Given the description of an element on the screen output the (x, y) to click on. 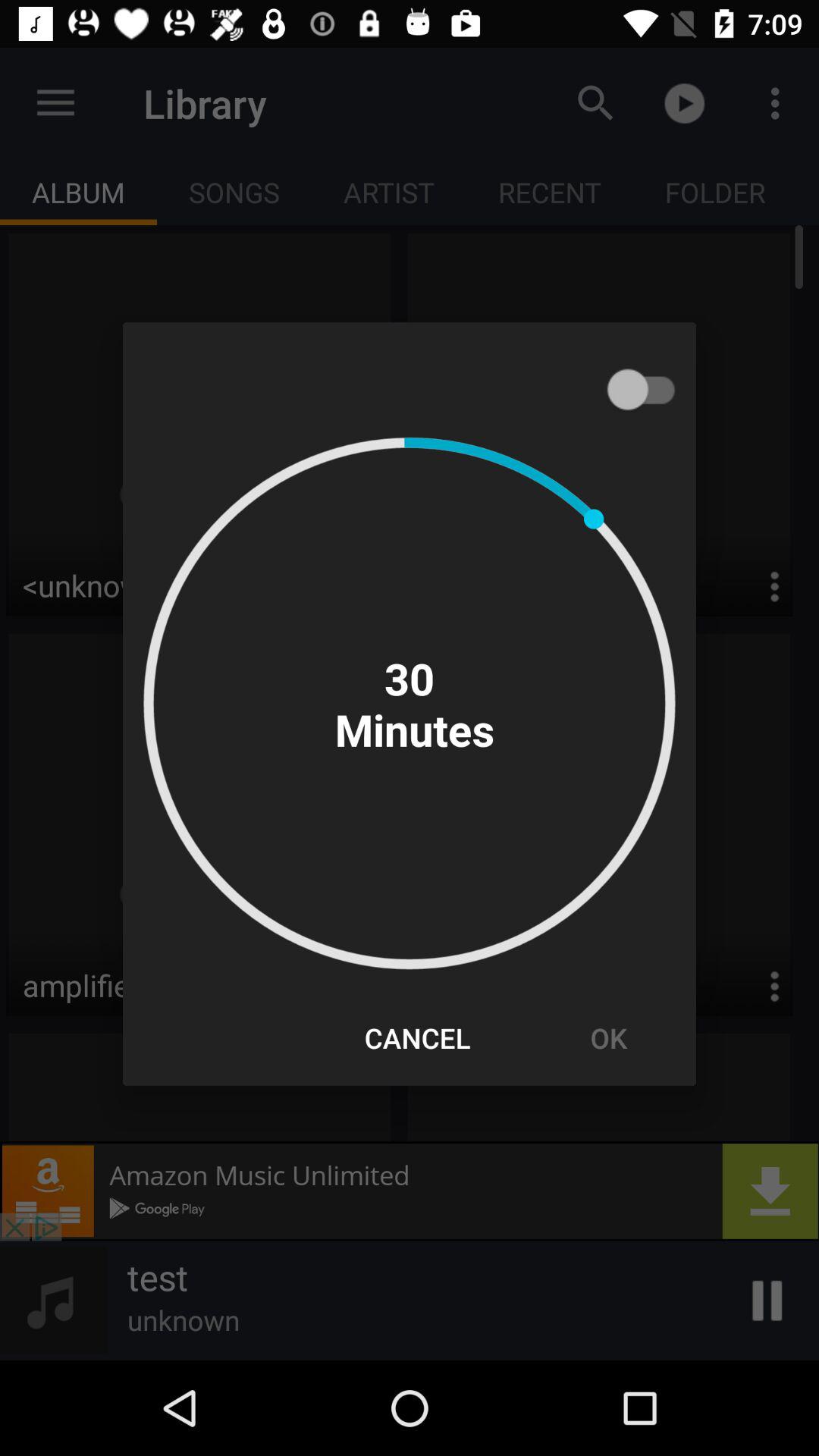
turn on cancel (417, 1037)
